Given the description of an element on the screen output the (x, y) to click on. 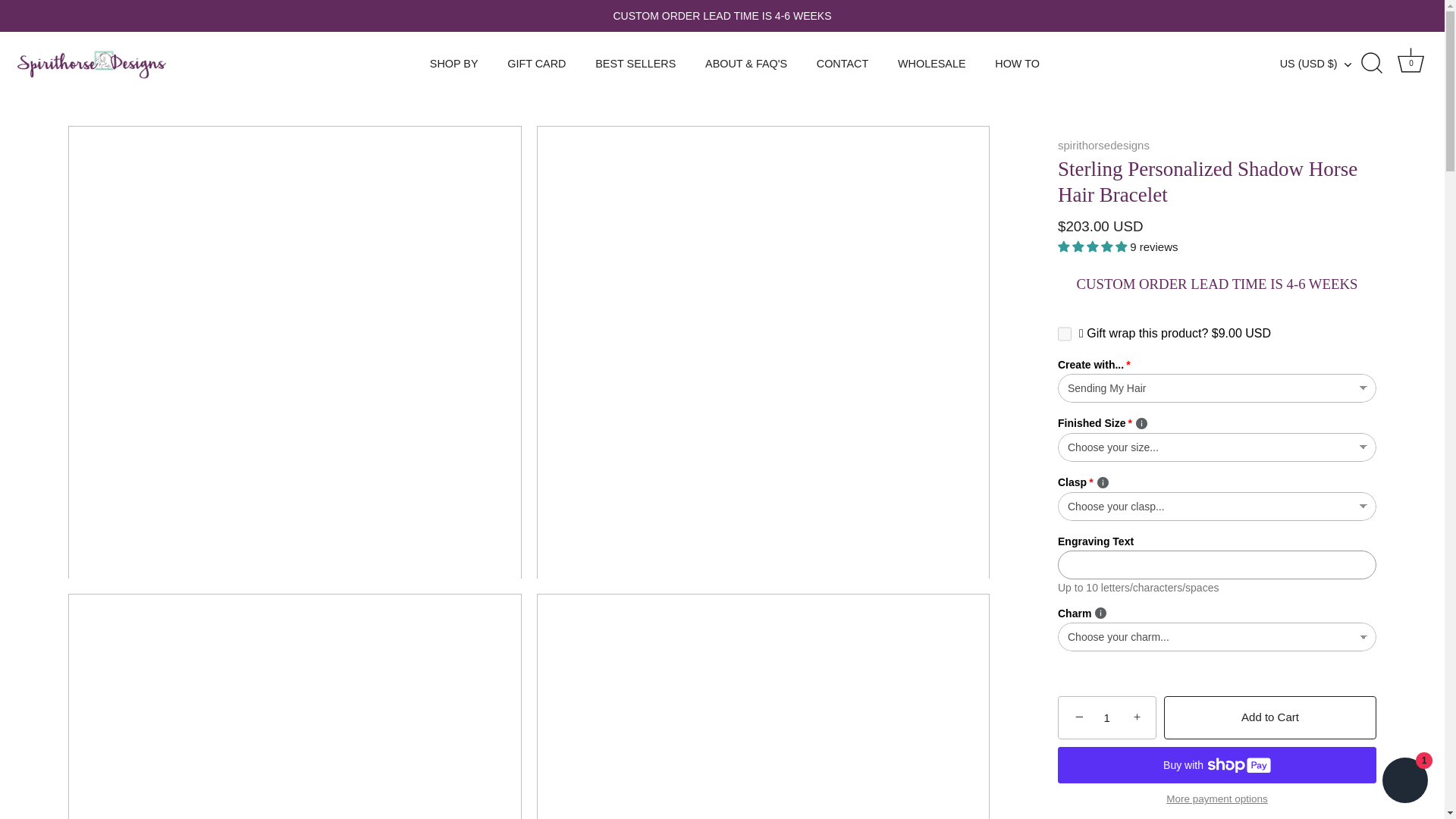
43937515208952 (1064, 333)
SHOP BY (454, 63)
Cart (1410, 59)
BEST SELLERS (635, 63)
Shopify online store chat (1404, 781)
GIFT CARD (537, 63)
